Given the description of an element on the screen output the (x, y) to click on. 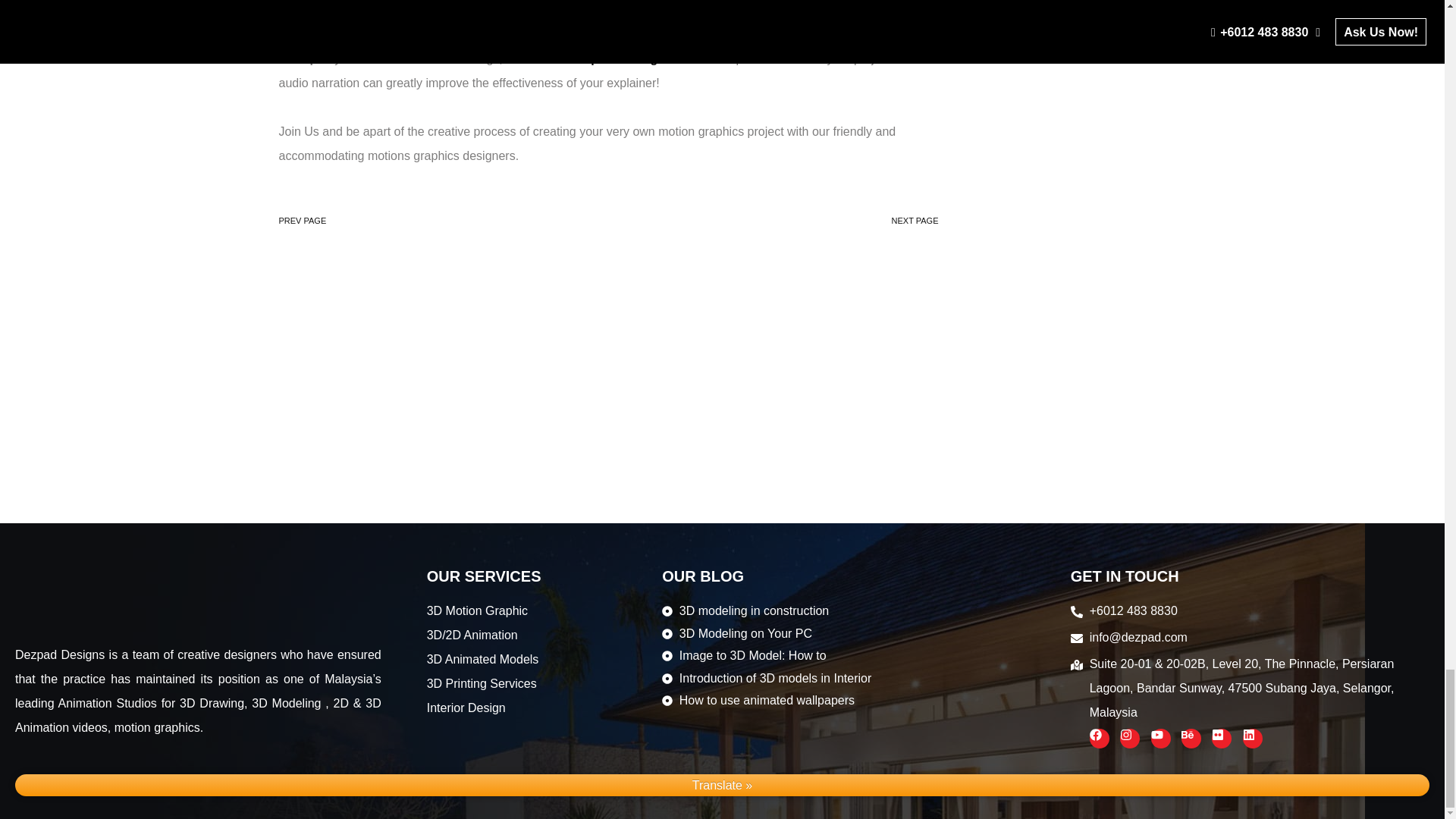
Motion Graphics designers (604, 58)
PREV PAGE (302, 220)
NEXT PAGE (915, 220)
